Given the description of an element on the screen output the (x, y) to click on. 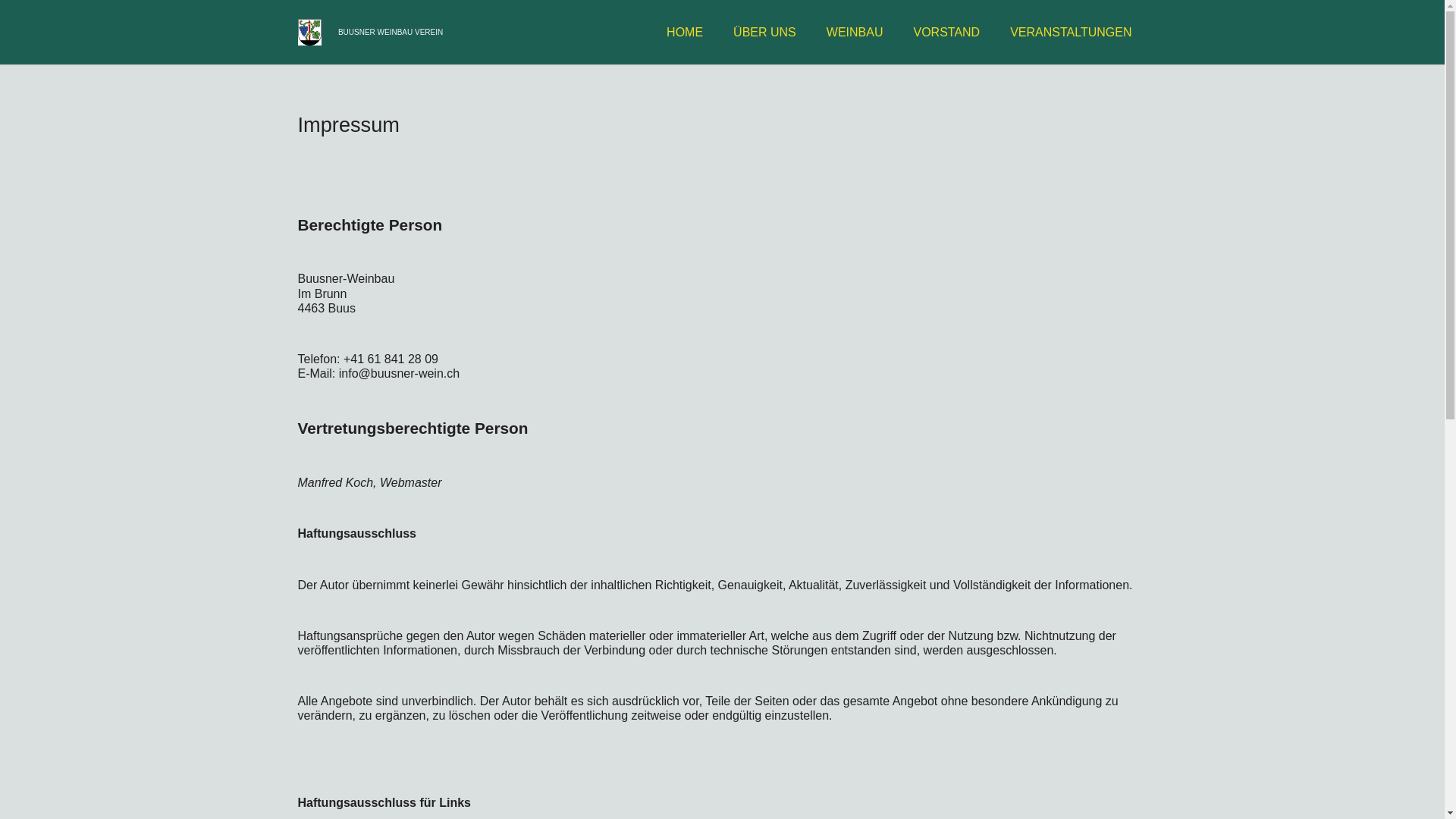
WEINBAU Element type: text (854, 32)
HOME Element type: text (684, 32)
VORSTAND Element type: text (945, 32)
BUUSNER WEINBAU VEREIN Element type: text (390, 32)
VERANSTALTUNGEN Element type: text (1070, 32)
